Given the description of an element on the screen output the (x, y) to click on. 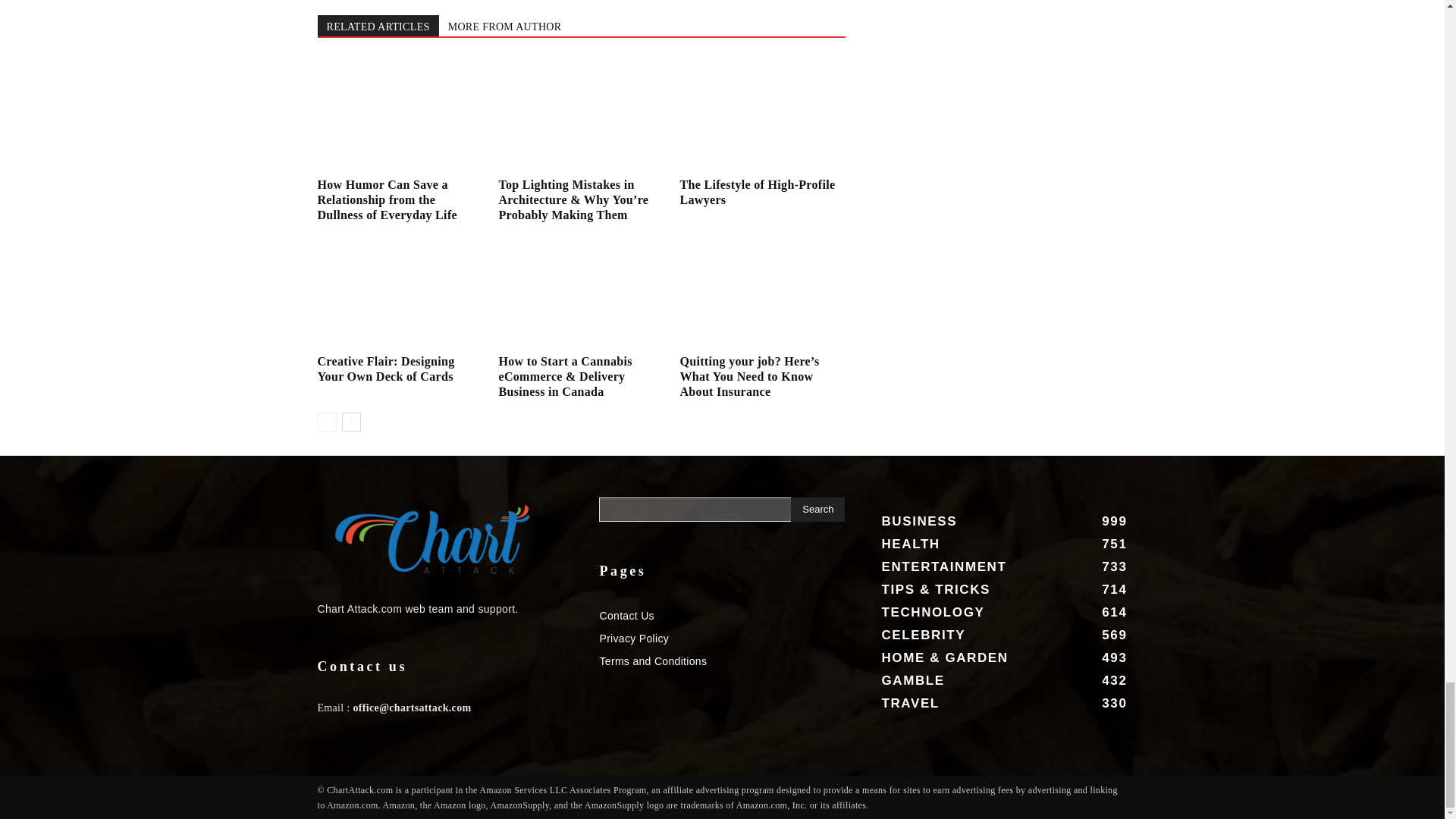
Search (817, 509)
The Lifestyle of High-Profile Lawyers (761, 114)
